Given the description of an element on the screen output the (x, y) to click on. 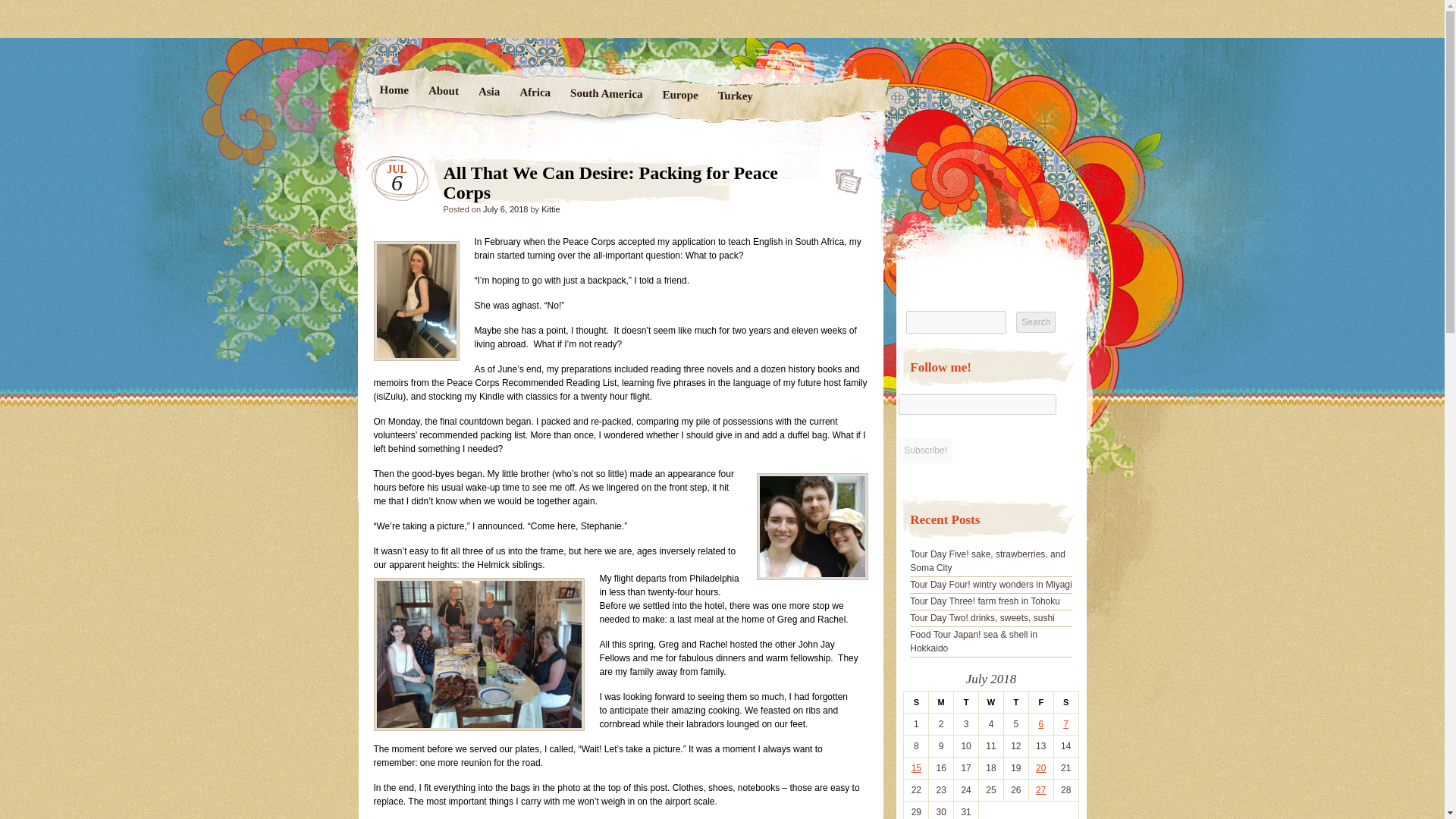
All That We Can Desire: Packing for Peace Corps (843, 176)
July 6, 2018 (505, 208)
Home (393, 91)
About (442, 92)
South America (604, 94)
At the Vanishing Point (577, 80)
Sunday (916, 702)
Monday (940, 702)
View all posts by Kittie (550, 208)
Permalink to All That We Can Desire: Packing for Peace Corps (843, 176)
